Given the description of an element on the screen output the (x, y) to click on. 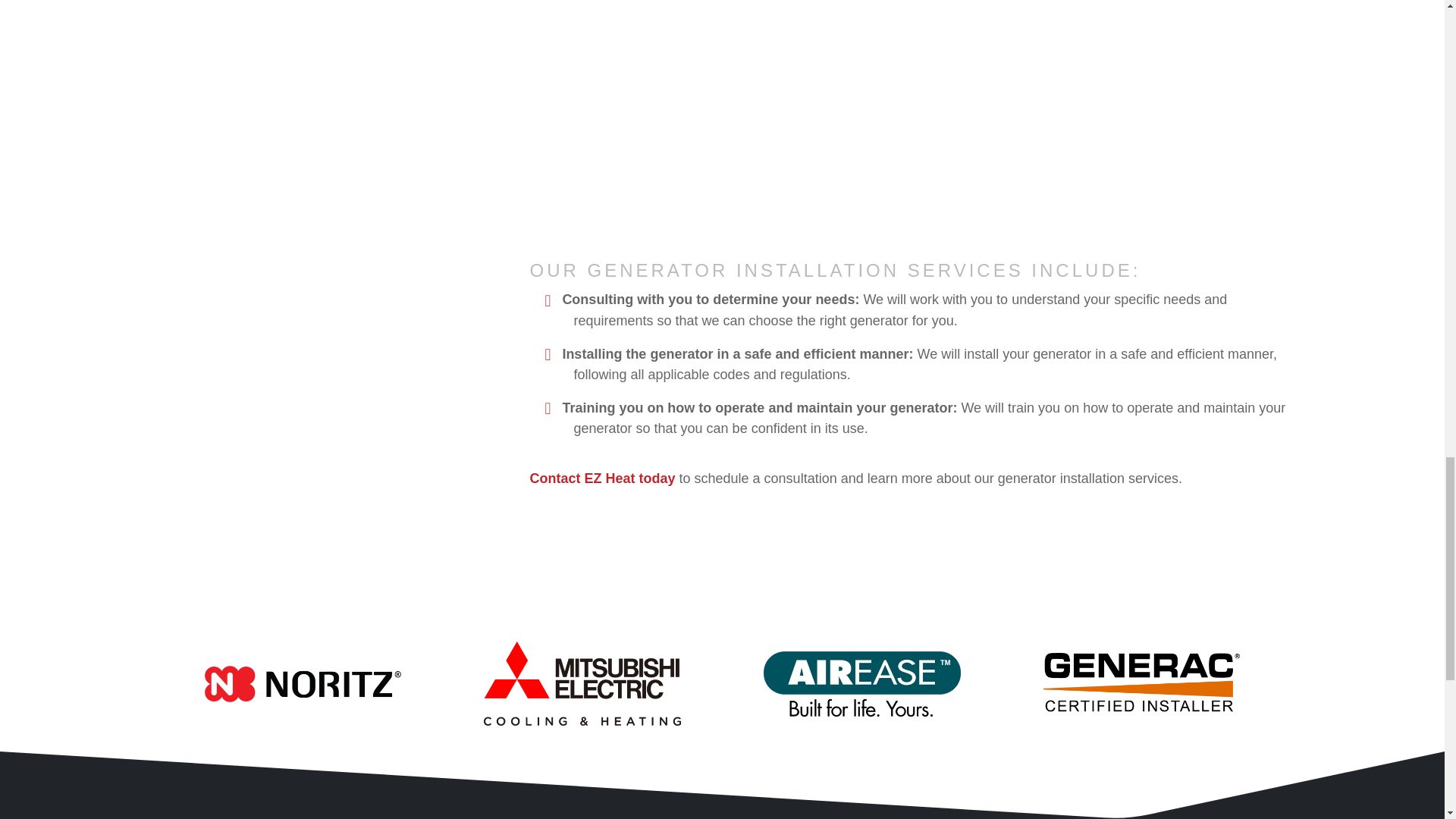
Contact EZ Heat today (602, 478)
